Given the description of an element on the screen output the (x, y) to click on. 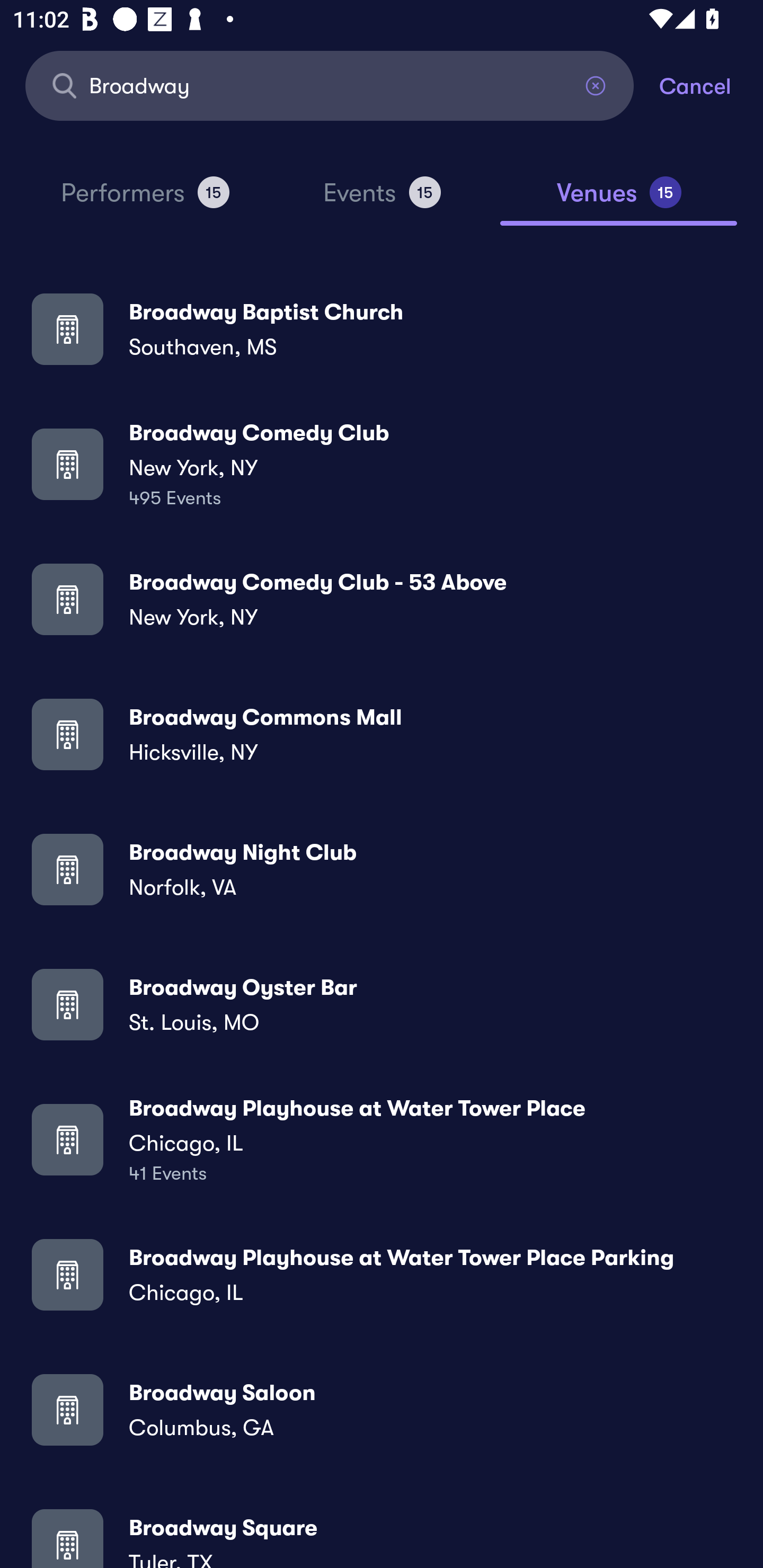
Broadway Find (329, 85)
Broadway Find (329, 85)
Cancel (711, 85)
Performers 15 (144, 200)
Events 15 (381, 200)
Venues 15 (618, 200)
Broadway Baptist Church Southaven, MS (381, 328)
Broadway Comedy Club New York, NY 495 Events (381, 464)
Broadway Comedy Club - 53 Above New York, NY (381, 598)
Broadway Commons Mall Hicksville, NY (381, 734)
Broadway Night Club Norfolk, VA (381, 869)
Broadway Oyster Bar St. Louis, MO (381, 1004)
Broadway Saloon Columbus, GA (381, 1409)
Broadway Square Tyler, TX (381, 1532)
